Given the description of an element on the screen output the (x, y) to click on. 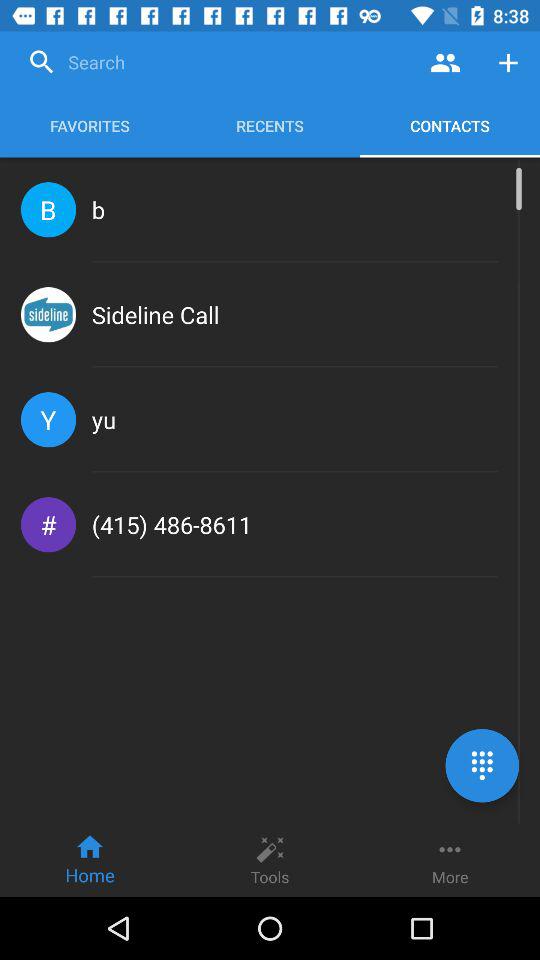
search engine (217, 62)
